Given the description of an element on the screen output the (x, y) to click on. 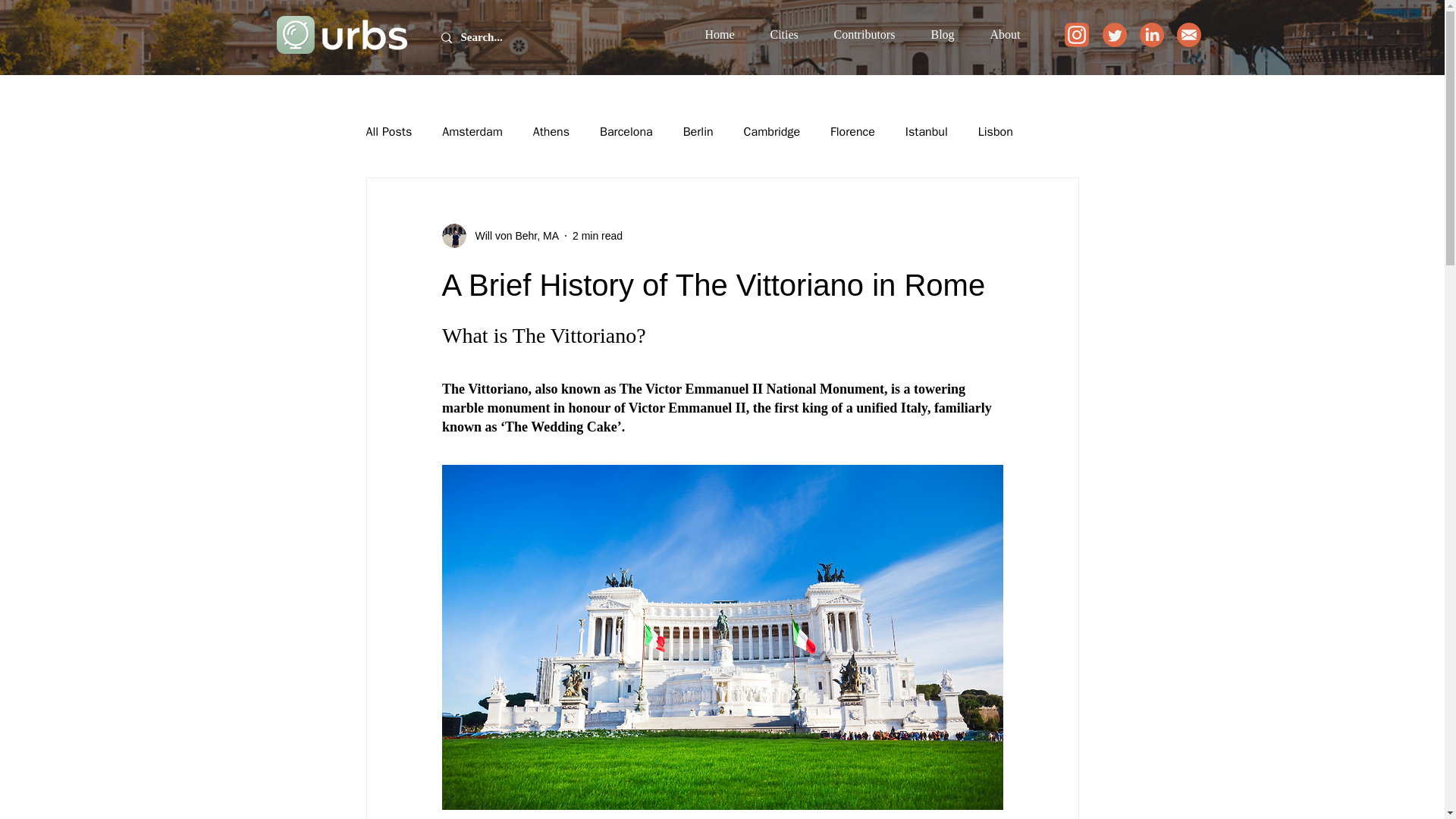
Blog (948, 34)
Contributors (870, 34)
Home (725, 34)
Lisbon (995, 132)
Cambridge (771, 132)
Barcelona (625, 132)
Berlin (697, 132)
Athens (550, 132)
Cities (790, 34)
2 min read (597, 234)
